Given the description of an element on the screen output the (x, y) to click on. 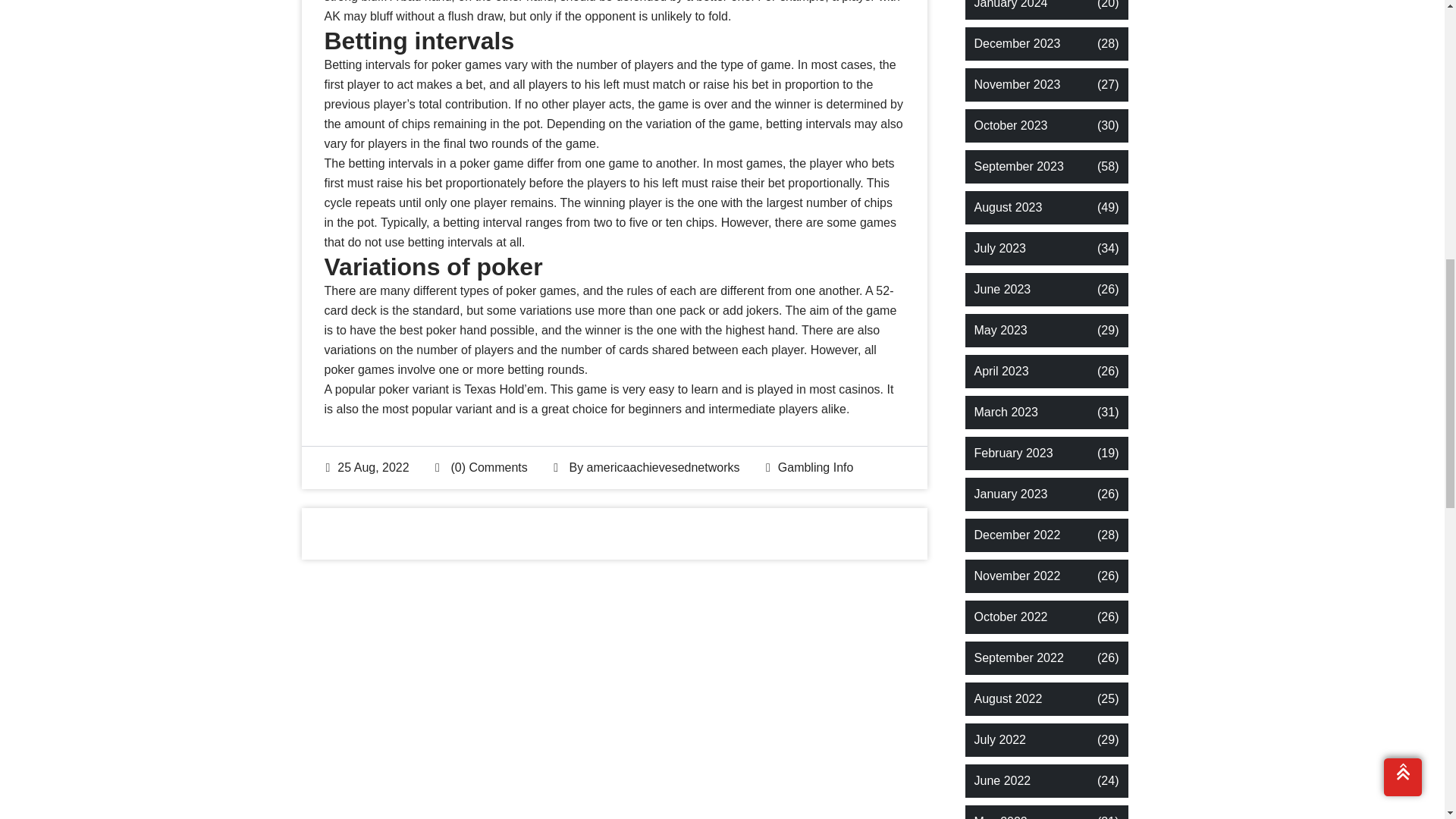
April 2023 (1000, 371)
December 2023 (1016, 44)
October 2022 (1010, 617)
February 2023 (1013, 453)
September 2023 (1018, 167)
November 2023 (1016, 85)
May 2023 (1000, 330)
October 2023 (1010, 126)
January 2024 (1010, 6)
January 2023 (1010, 494)
